Given the description of an element on the screen output the (x, y) to click on. 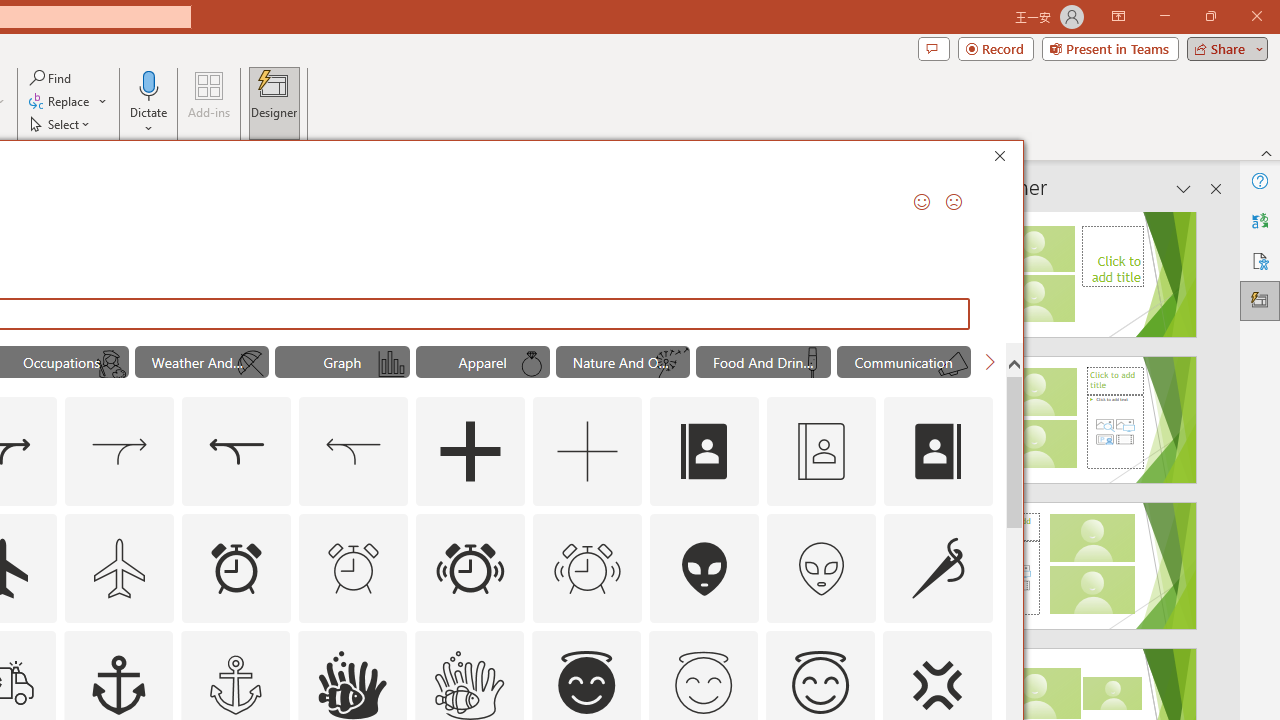
AutomationID: Icons_Megaphone_M (952, 364)
AutomationID: Icons_Ring_M (532, 364)
AutomationID: Icons (703, 683)
AutomationID: Icons_AddressBook_RTL (938, 452)
AutomationID: Icons_AlienFace_M (821, 568)
AutomationID: Icons_AlarmRinging_M (587, 568)
"Apparel" Icons. (483, 362)
Send a Frown (954, 201)
AutomationID: Icons_AlarmRinging (470, 568)
